Given the description of an element on the screen output the (x, y) to click on. 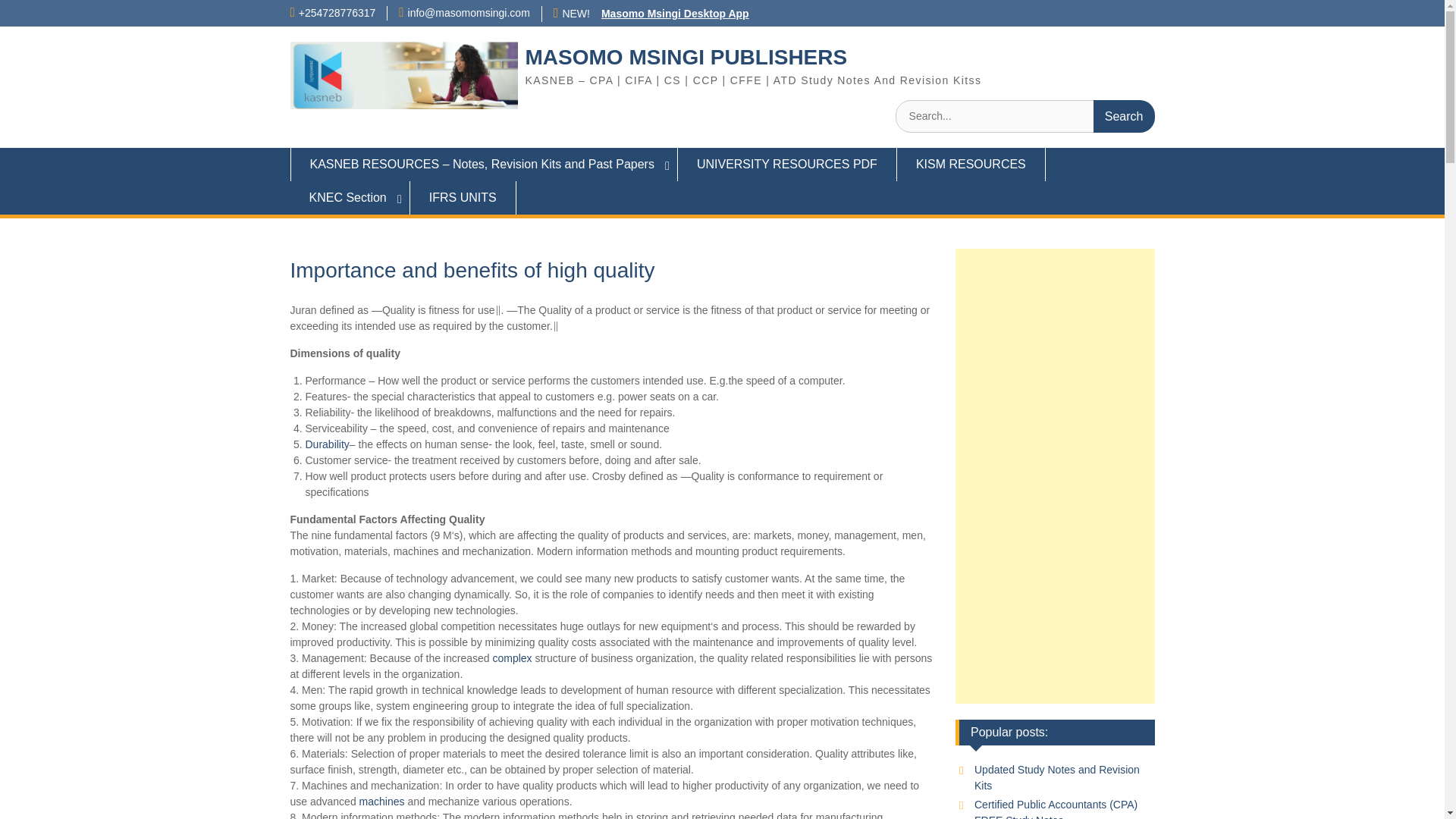
Search (1123, 115)
KNEC Section (349, 197)
IFRS UNITS (463, 197)
Search (1123, 115)
MASOMO MSINGI PUBLISHERS (685, 56)
Durability (326, 444)
UNIVERSITY RESOURCES PDF (787, 164)
Search (1123, 115)
Search for: (1024, 115)
Updated Study Notes and Revision Kits (1057, 777)
